Given the description of an element on the screen output the (x, y) to click on. 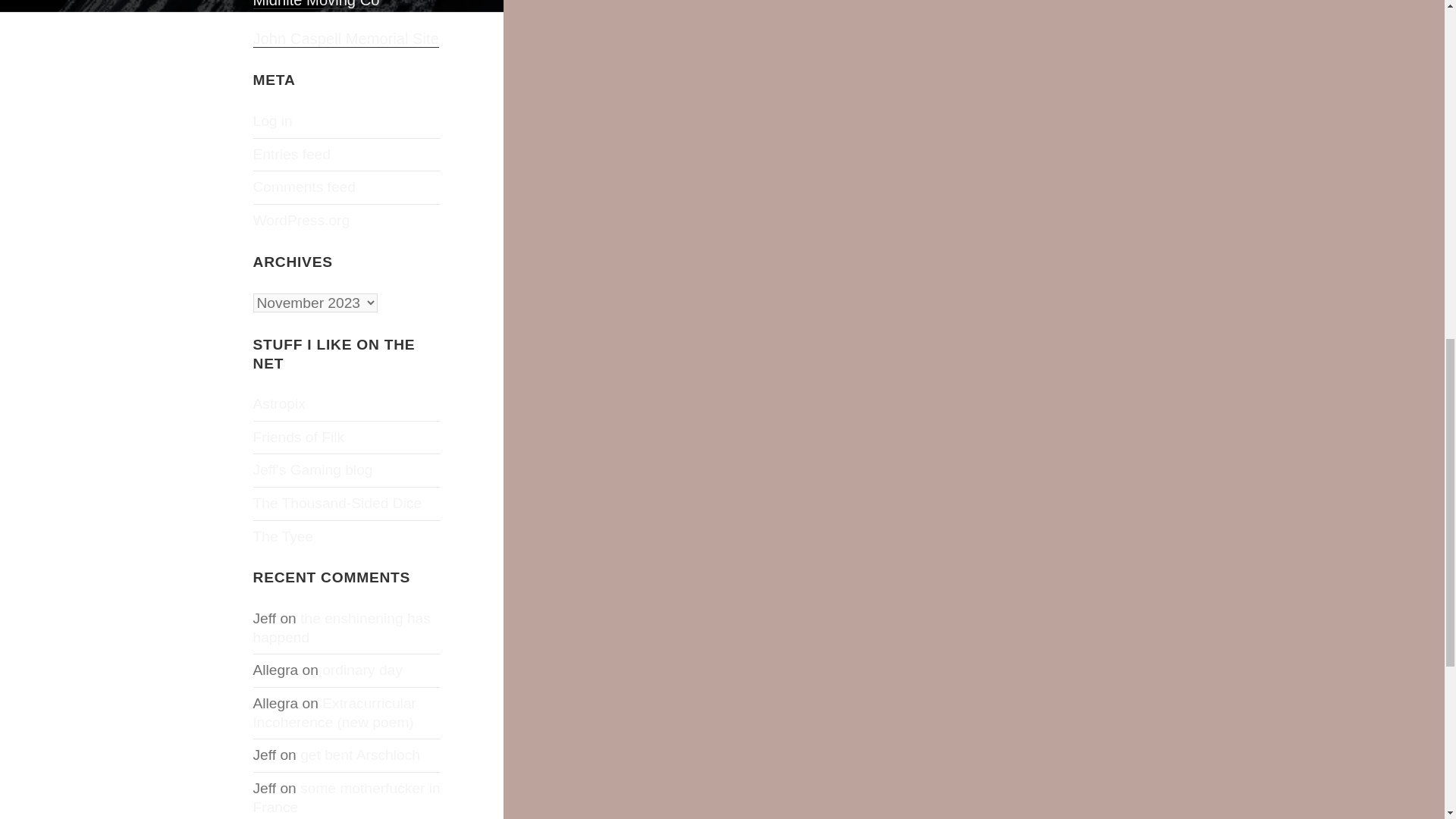
ordinary day (362, 669)
Midnite Moving Co (316, 4)
WordPress.org (301, 220)
Jeff's Gaming blog (312, 469)
get bent Arschloch (359, 754)
Friends of Filk (298, 437)
Log in (272, 120)
Comments feed (304, 186)
some motherfucker in France (347, 797)
The Tyee (283, 536)
Entries feed (291, 154)
Filk site (298, 437)
the enshinening has happend (341, 627)
John Caspell Memorial Site (346, 39)
